Given the description of an element on the screen output the (x, y) to click on. 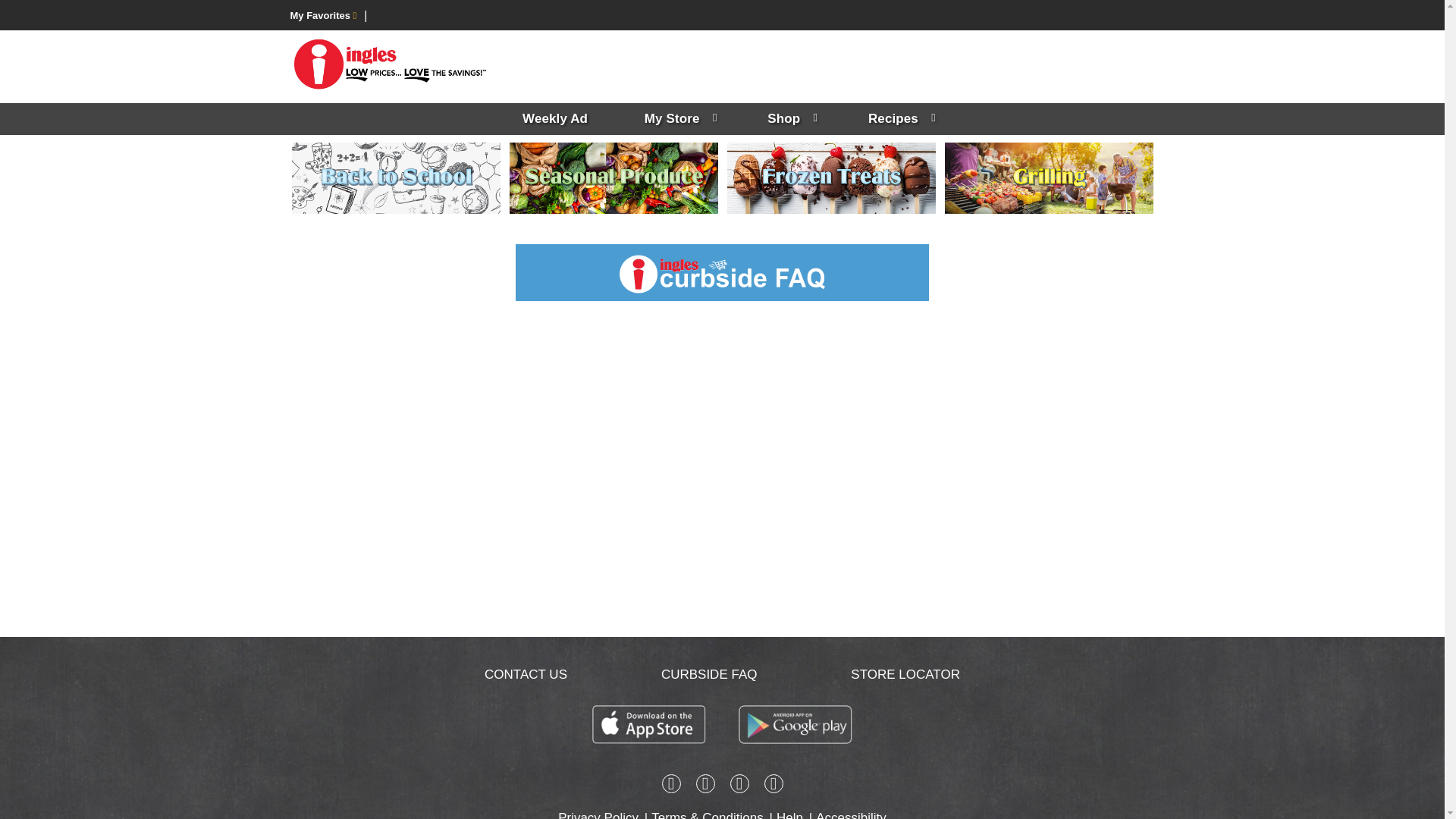
STORE LOCATOR (904, 674)
youtube (773, 785)
CONTACT US (525, 674)
instagram (704, 785)
My Store (677, 119)
Shop (789, 119)
My Favorites  (322, 15)
CURBSIDE FAQ (709, 674)
facebook (670, 785)
Frozen Treats (830, 177)
Seasonal Produce (613, 177)
Recipes (898, 119)
Back to School (395, 177)
Grilling (1048, 177)
twitter (738, 785)
